Given the description of an element on the screen output the (x, y) to click on. 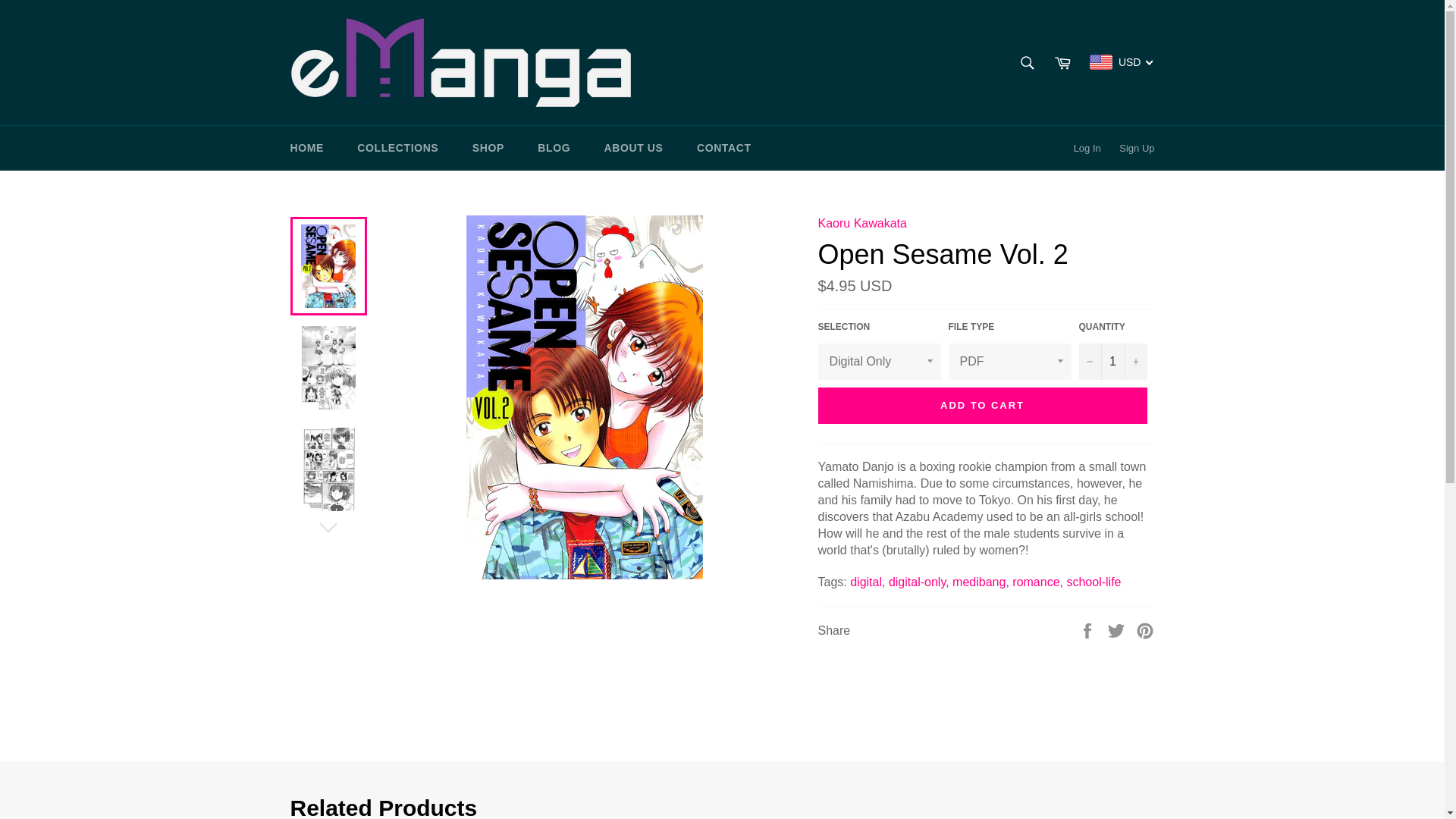
Log In (1086, 148)
COLLECTIONS (397, 148)
Pin on Pinterest (1144, 629)
1 (1112, 361)
BLOG (553, 148)
ADD TO CART (981, 405)
SHOP (488, 148)
Tweet on Twitter (1117, 629)
Cart (1062, 62)
Sign Up (1136, 148)
ABOUT US (633, 148)
Kaoru Kawakata (860, 223)
CONTACT (724, 148)
Kaoru Kawakata (860, 223)
Share on Facebook (1088, 629)
